Given the description of an element on the screen output the (x, y) to click on. 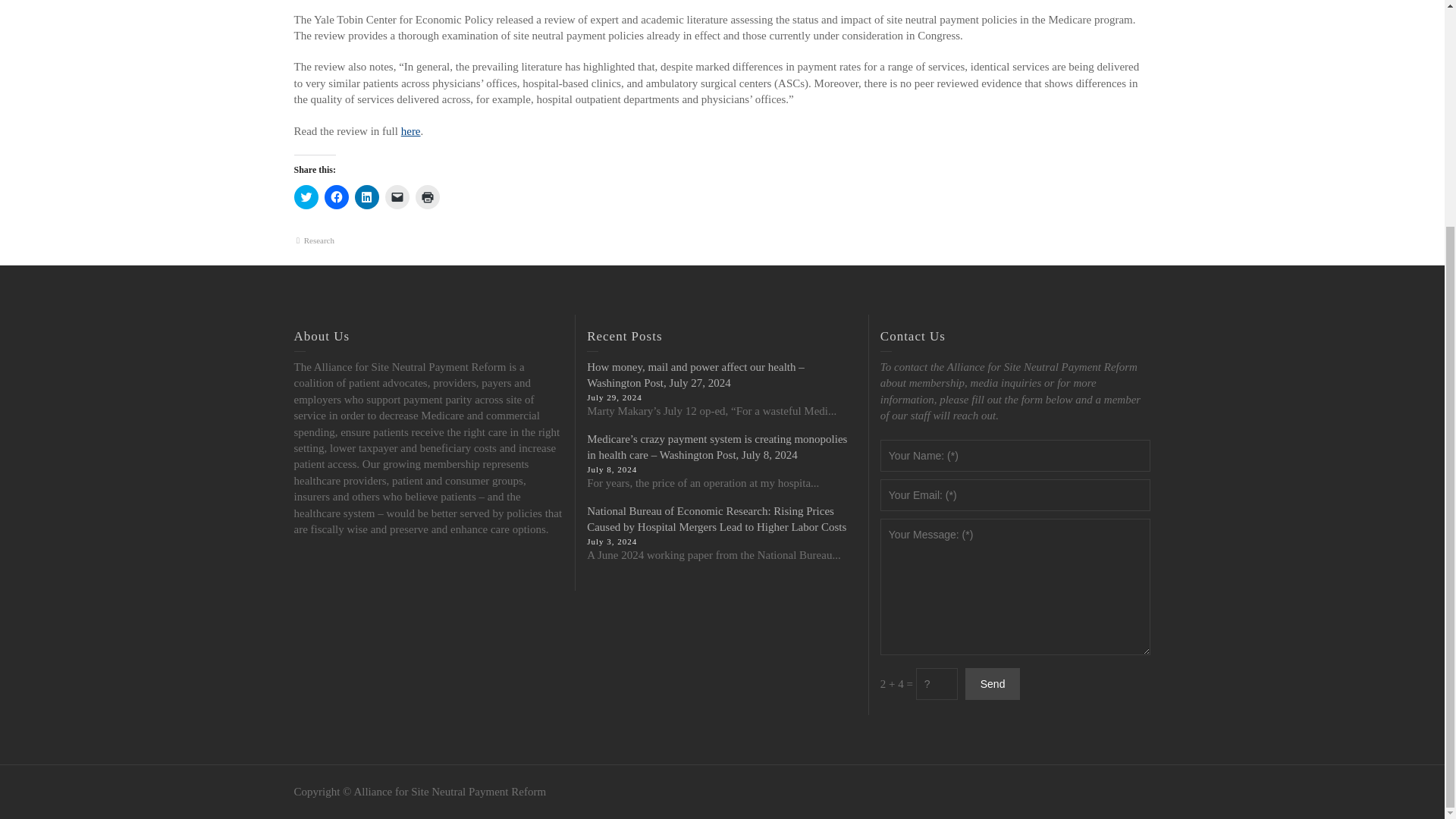
Send (992, 684)
Research (319, 239)
Click to share on Twitter (306, 197)
here (410, 131)
